Given the description of an element on the screen output the (x, y) to click on. 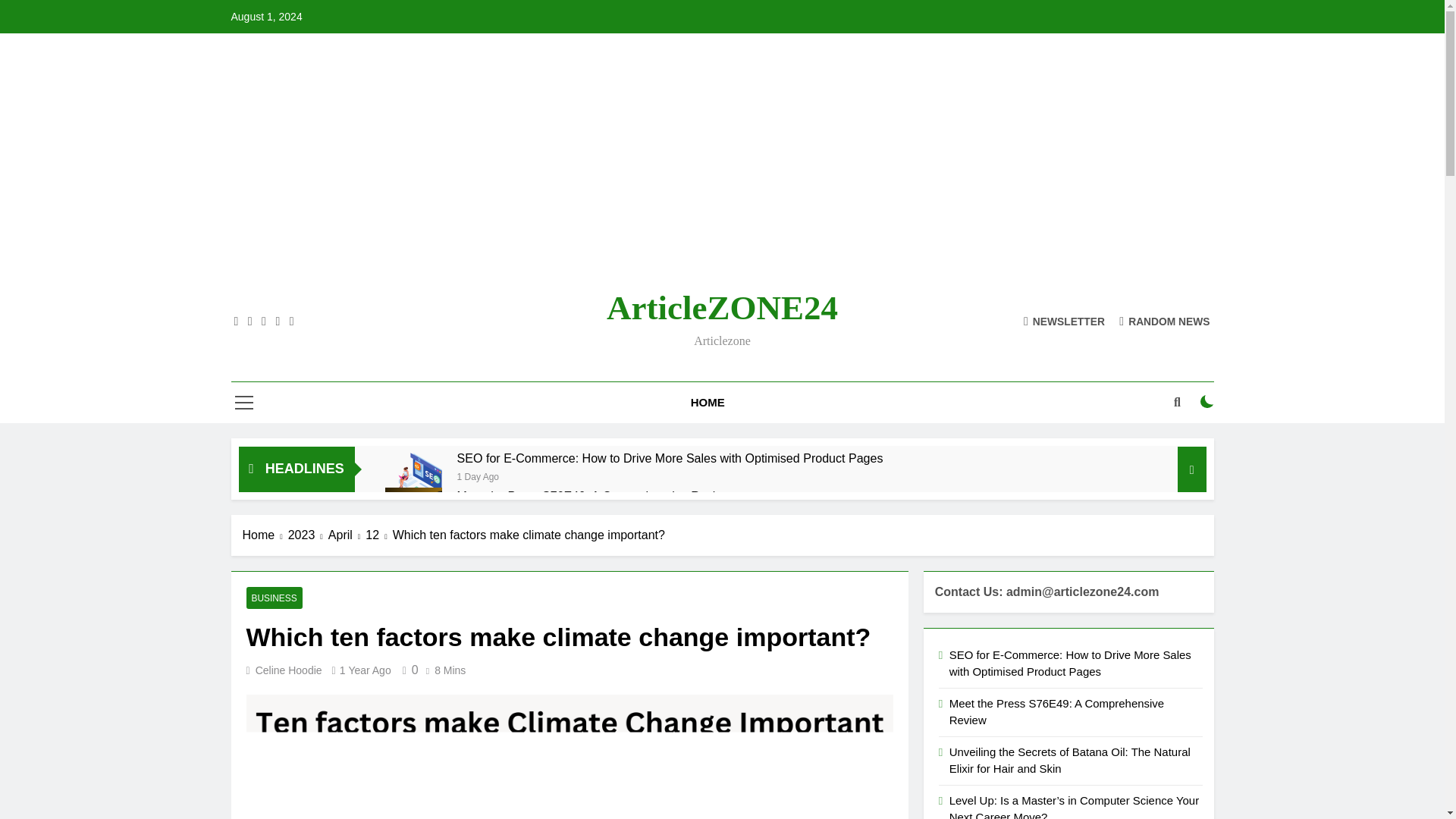
on (1206, 401)
Meet the Press S76E49: A Comprehensive Review (593, 495)
Meet the Press S76E49: A Comprehensive Review (593, 495)
2023 (308, 535)
1 Day Ago (478, 475)
NEWSLETTER (1064, 319)
HOME (707, 402)
RANDOM NEWS (1164, 319)
Home (265, 535)
ArticleZONE24 (722, 307)
Meet the Press S76E49: A Comprehensive Review (413, 515)
